Given the description of an element on the screen output the (x, y) to click on. 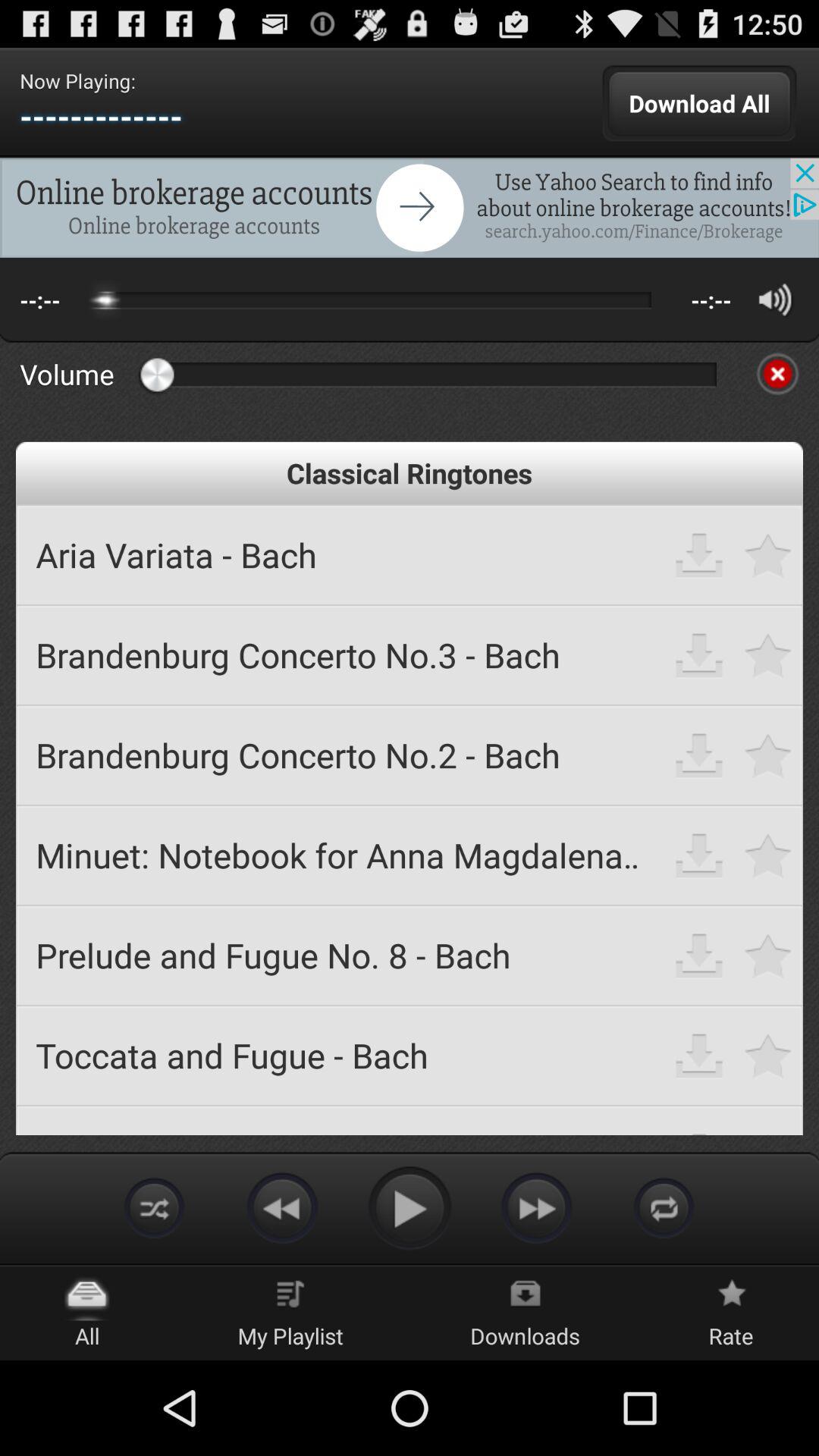
download song (699, 1054)
